Given the description of an element on the screen output the (x, y) to click on. 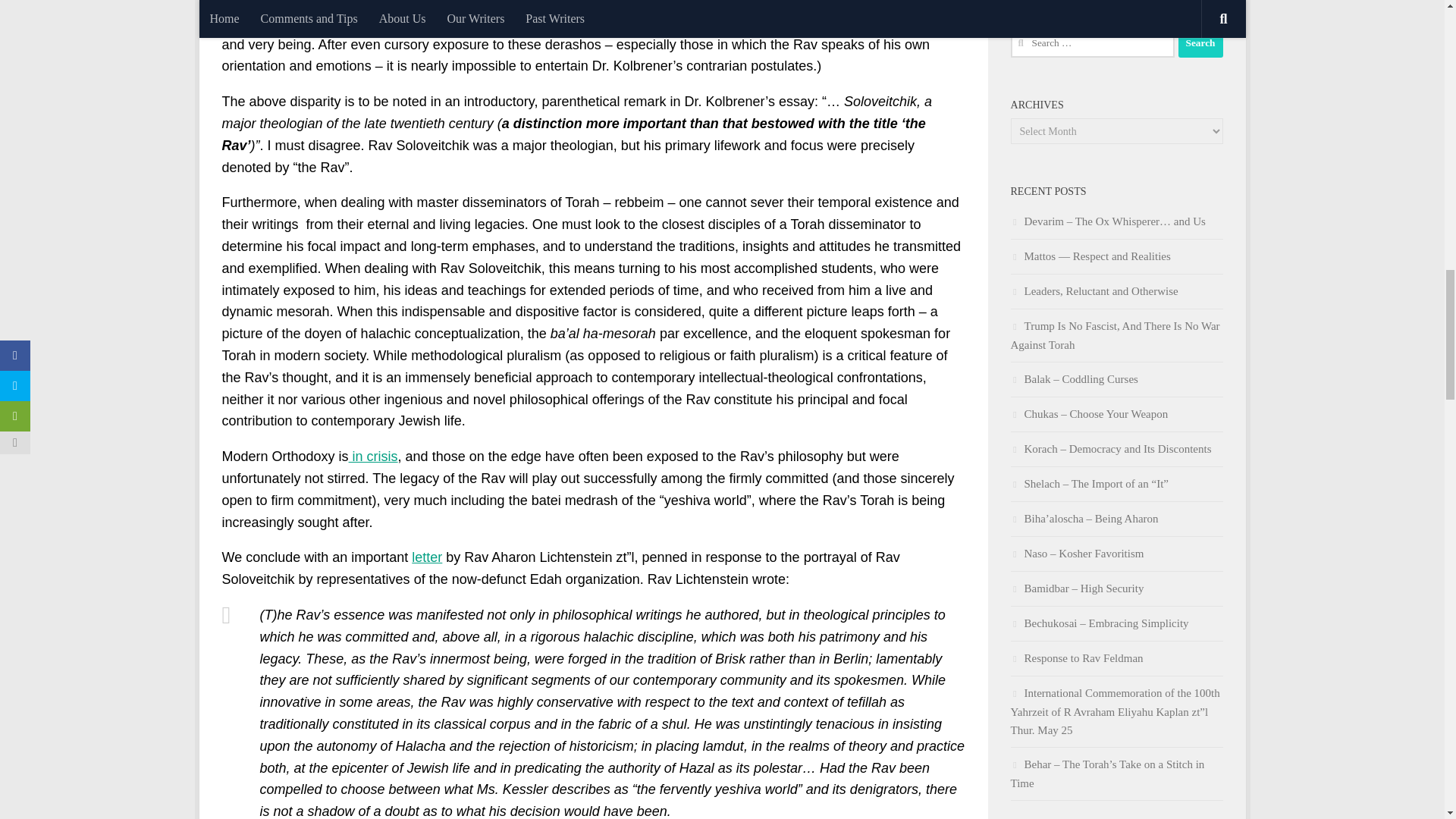
letter (427, 557)
in crisis (373, 456)
Search (1200, 42)
Search (1200, 42)
